Given the description of an element on the screen output the (x, y) to click on. 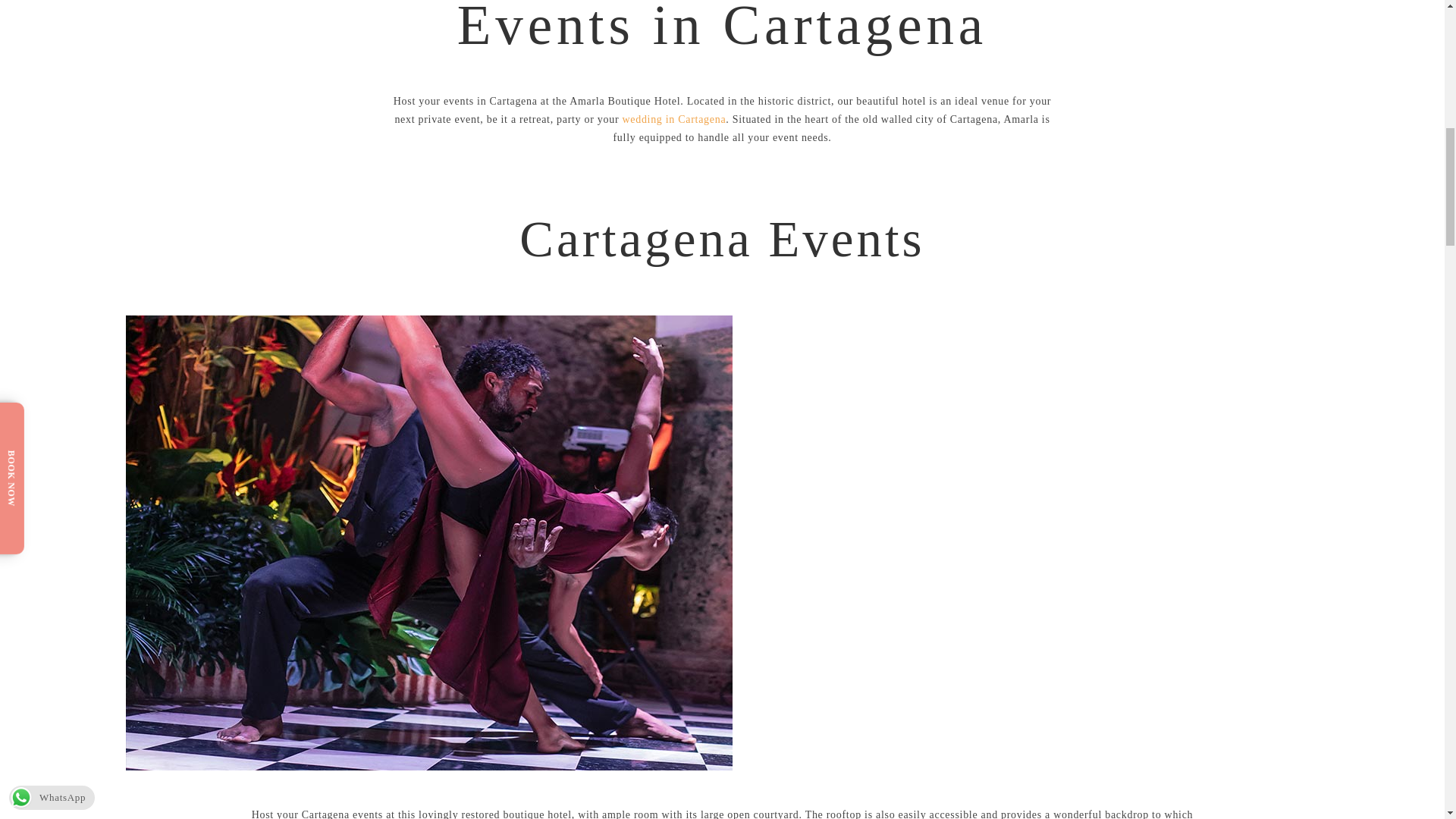
wedding in Cartagena (673, 119)
